Given the description of an element on the screen output the (x, y) to click on. 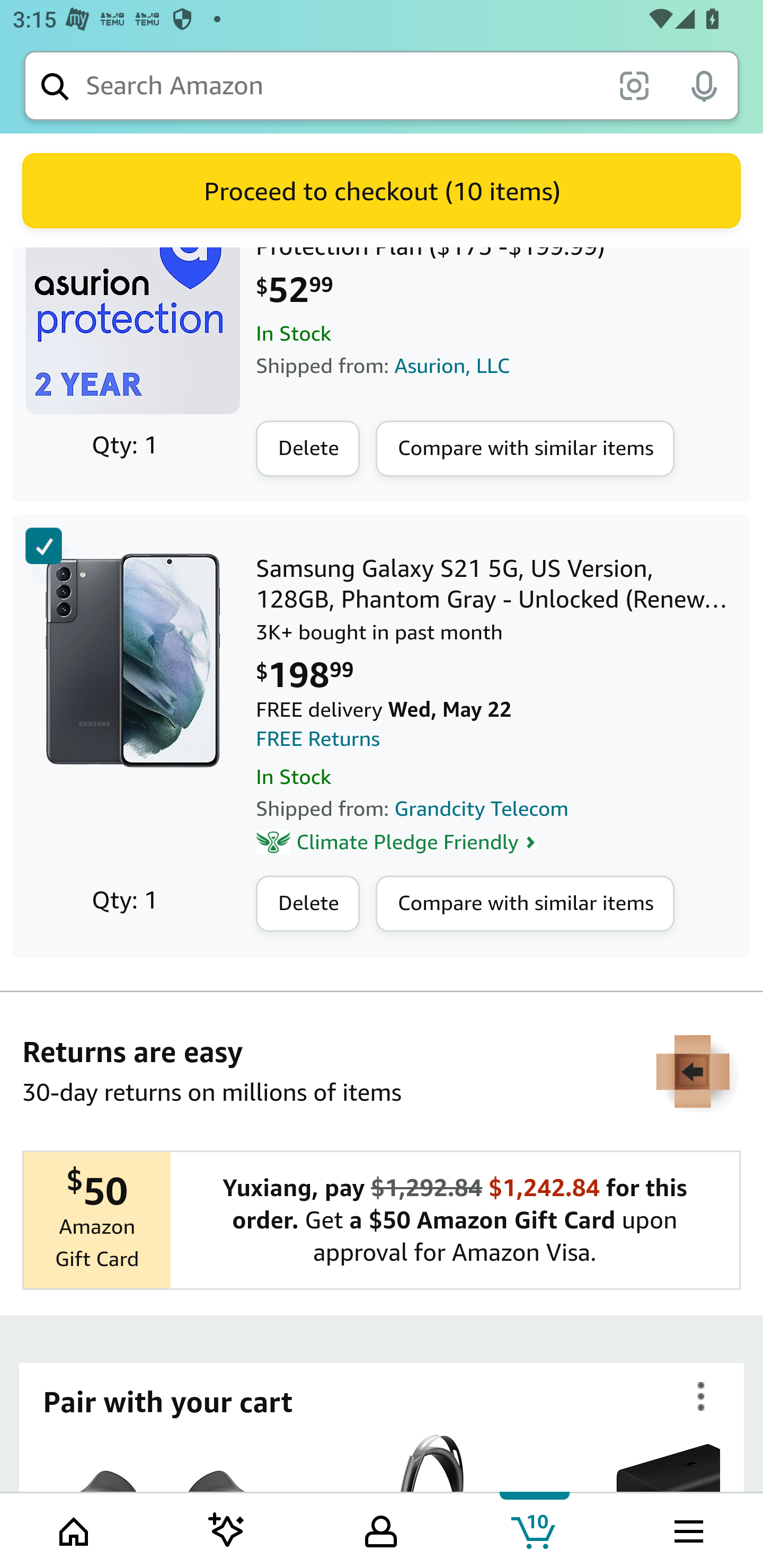
scan it (633, 85)
Proceed to checkout (10 items) (381, 190)
Asurion, LLC (452, 364)
Delete (308, 449)
Compare with similar items (524, 449)
FREE Returns (318, 739)
Grandcity Telecom (481, 808)
Delete (308, 903)
Compare with similar items (524, 903)
Not interested in specific items (700, 1397)
Home Tab 1 of 5 (75, 1529)
Inspire feed Tab 2 of 5 (227, 1529)
Your Amazon.com Tab 3 of 5 (380, 1529)
Cart 10 items Tab 4 of 5 10 (534, 1529)
Browse menu Tab 5 of 5 (687, 1529)
